Given the description of an element on the screen output the (x, y) to click on. 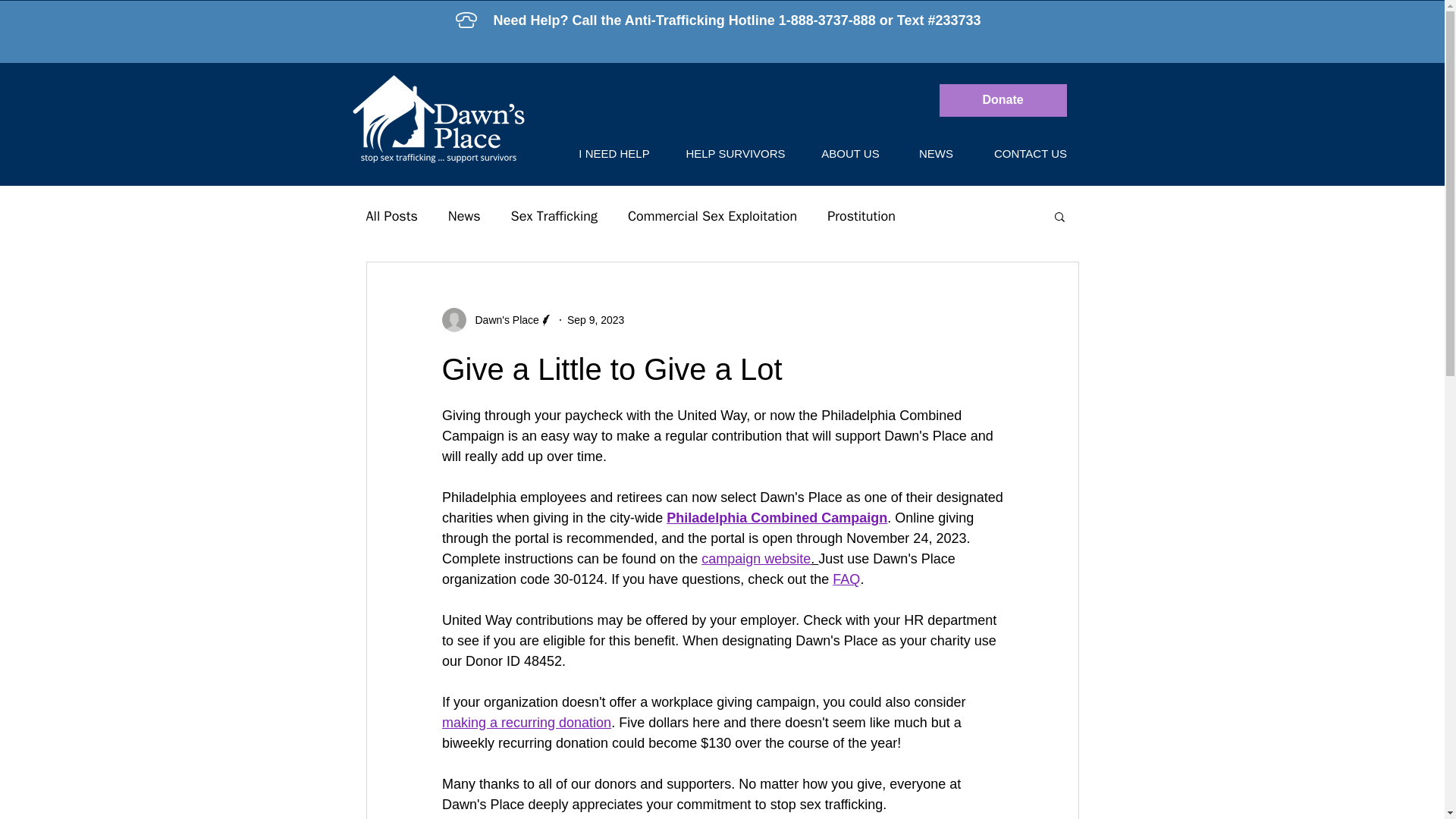
Prostitution (861, 216)
Philadelphia Combined Campaign (776, 517)
News (464, 216)
making a recurring donation (525, 722)
Donate (1002, 100)
All Posts (390, 216)
Sex Trafficking (553, 216)
ABOUT US (850, 153)
Commercial Sex Exploitation (711, 216)
Dawn's Place (501, 320)
Sep 9, 2023 (595, 319)
CONTACT US (1030, 153)
campaign website (755, 558)
FAQ (846, 579)
Dawn's Place (497, 319)
